Given the description of an element on the screen output the (x, y) to click on. 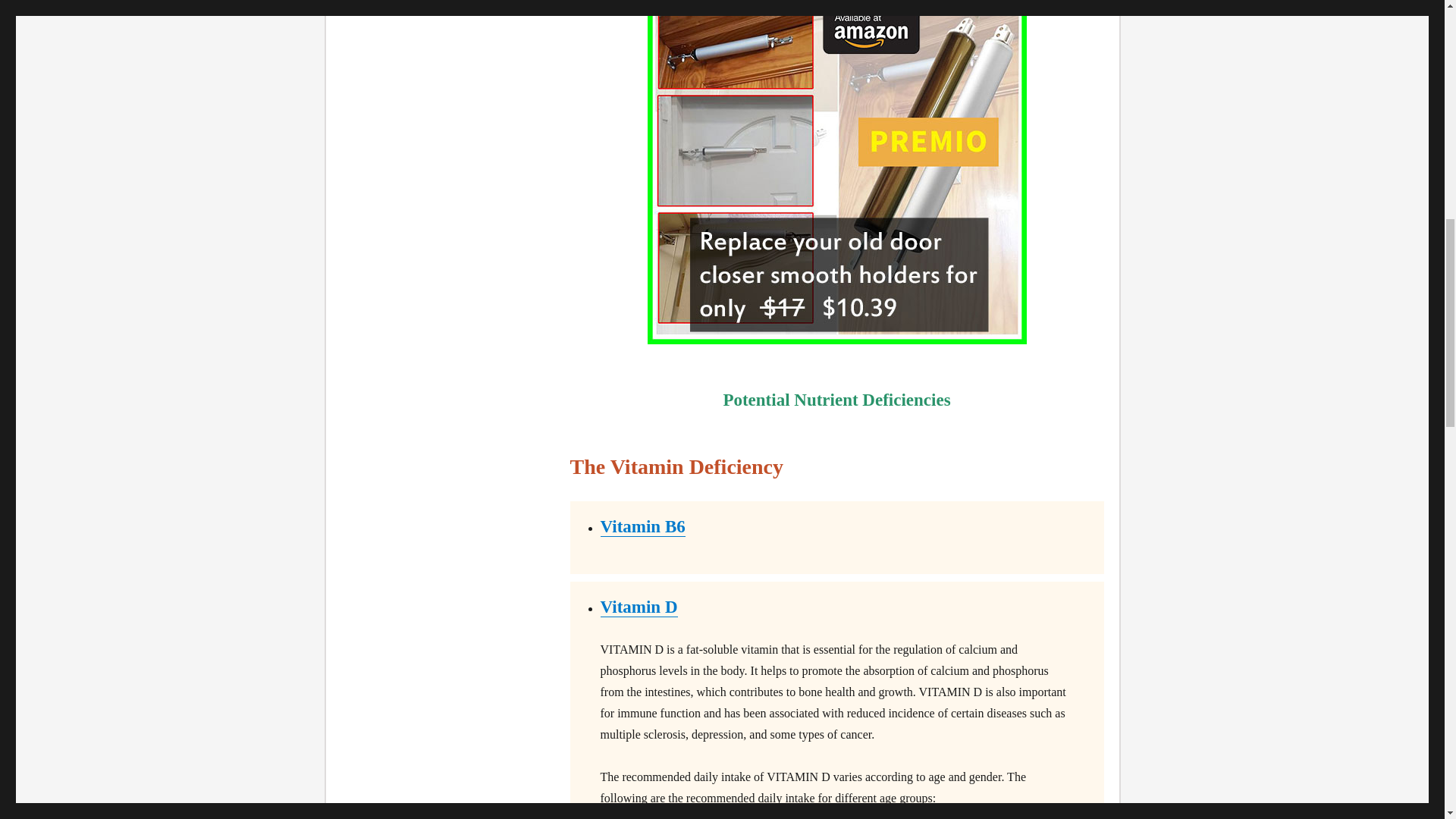
Vitamin B6 (642, 526)
Vitamin D (638, 606)
